Given the description of an element on the screen output the (x, y) to click on. 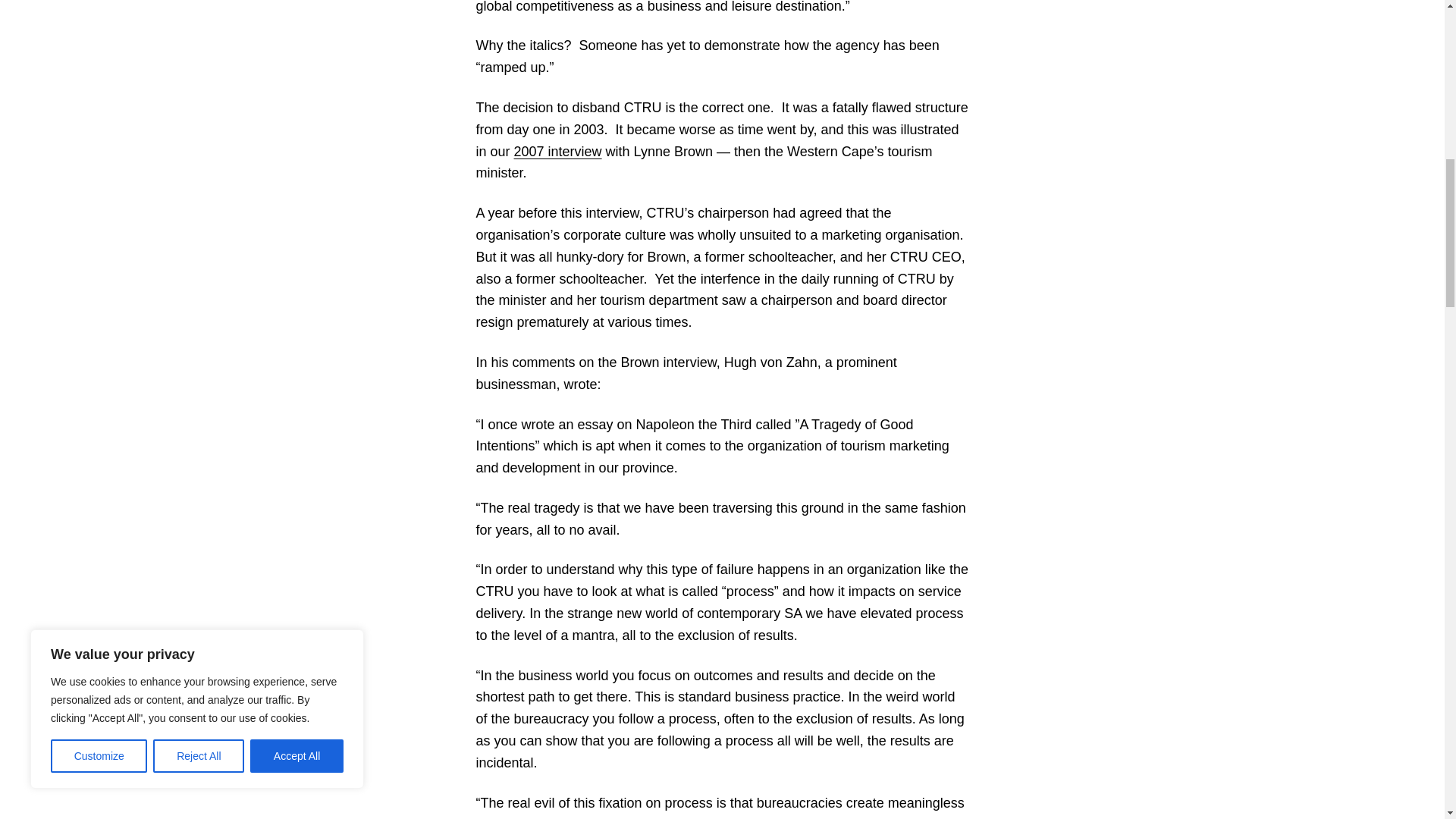
Lynne Brown interview (557, 151)
2007 interview (557, 151)
